Given the description of an element on the screen output the (x, y) to click on. 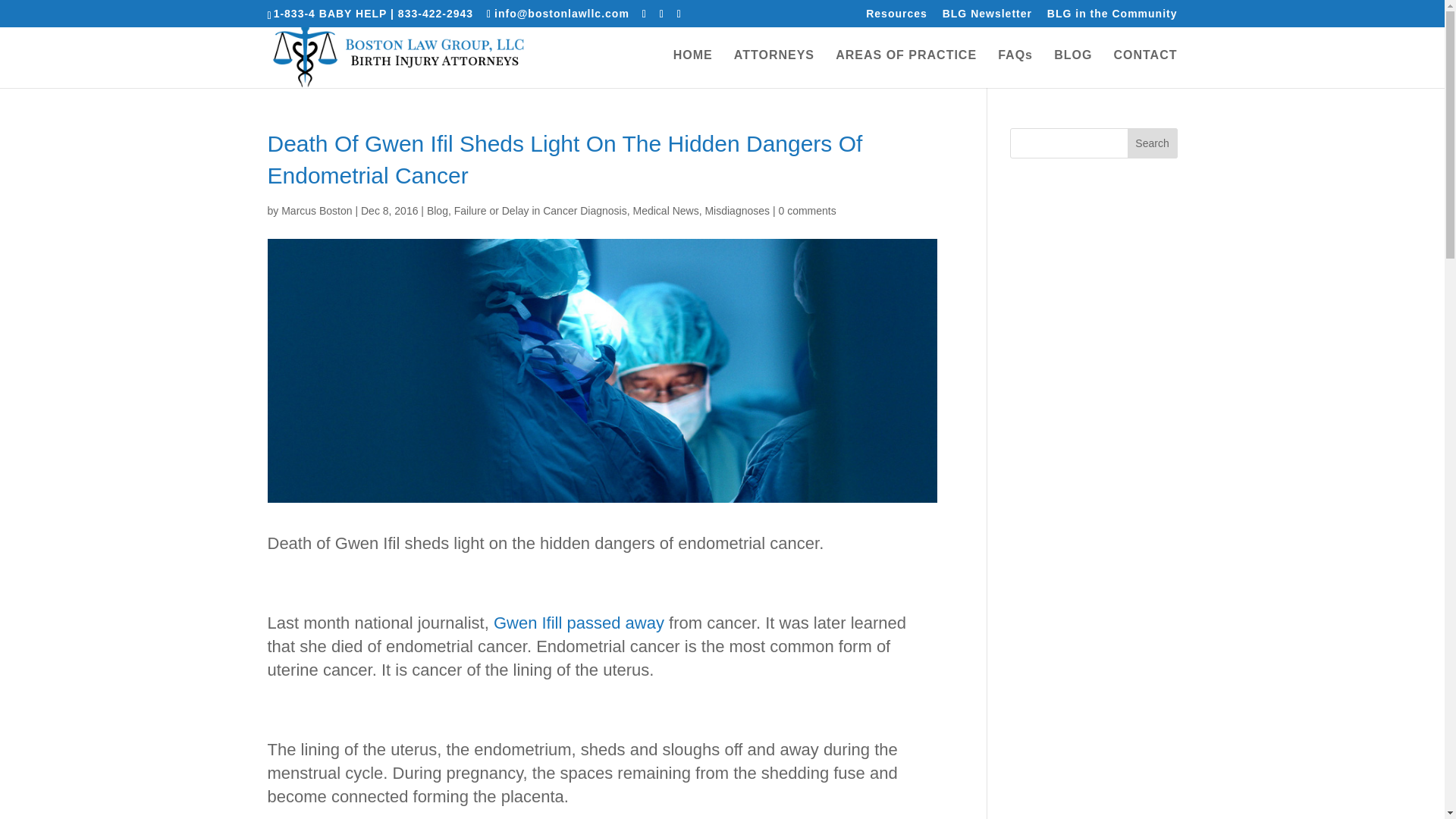
FAQs (1014, 68)
AREAS OF PRACTICE (905, 68)
Search (1151, 142)
Gwen Ifill passed away (578, 622)
ATTORNEYS (773, 68)
0 comments (806, 210)
Misdiagnoses (737, 210)
BLG Newsletter (987, 16)
Marcus Boston (316, 210)
Search (1151, 142)
